Given the description of an element on the screen output the (x, y) to click on. 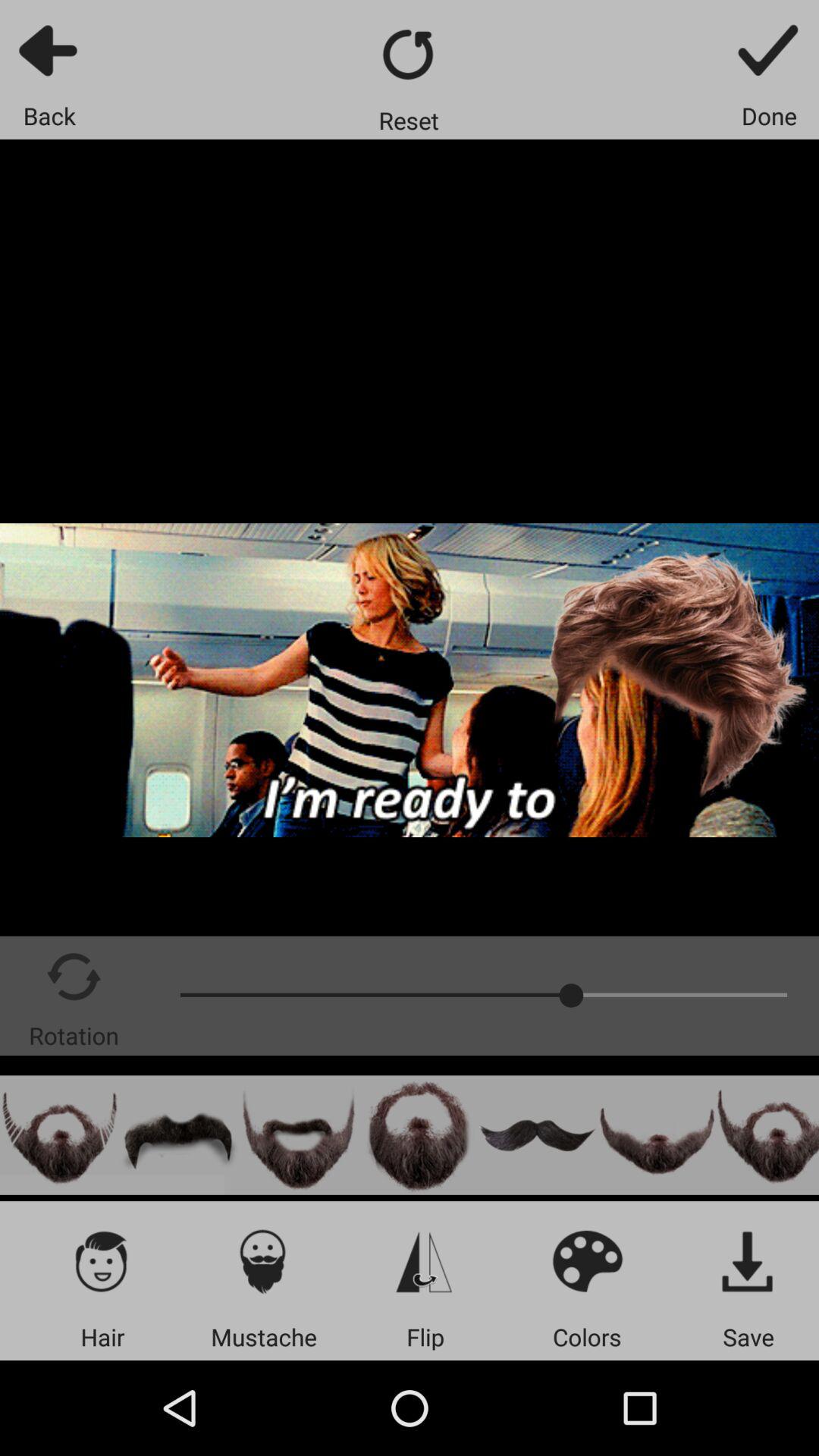
reset button (408, 54)
